Given the description of an element on the screen output the (x, y) to click on. 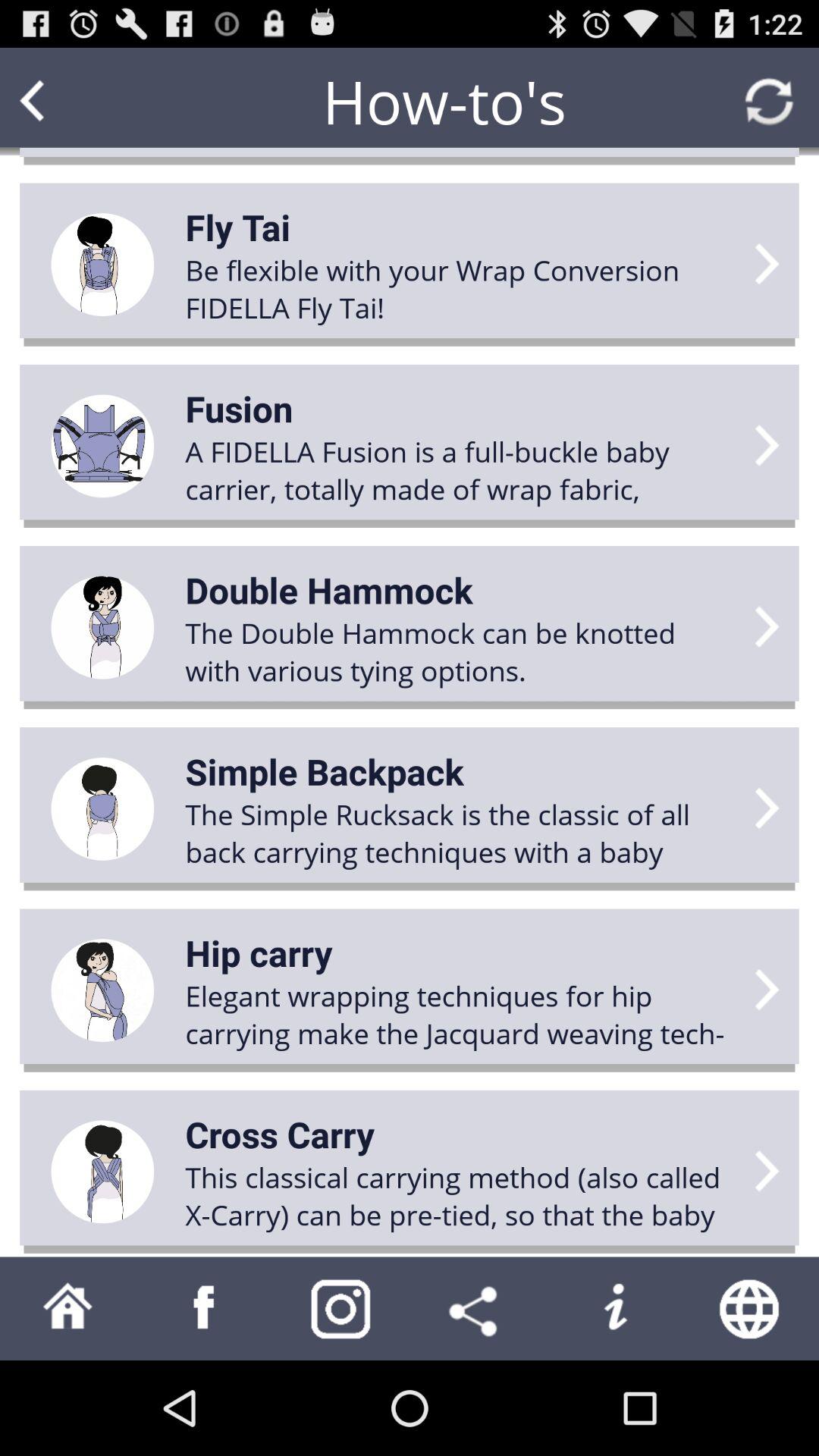
flip to hip carry app (258, 952)
